Given the description of an element on the screen output the (x, y) to click on. 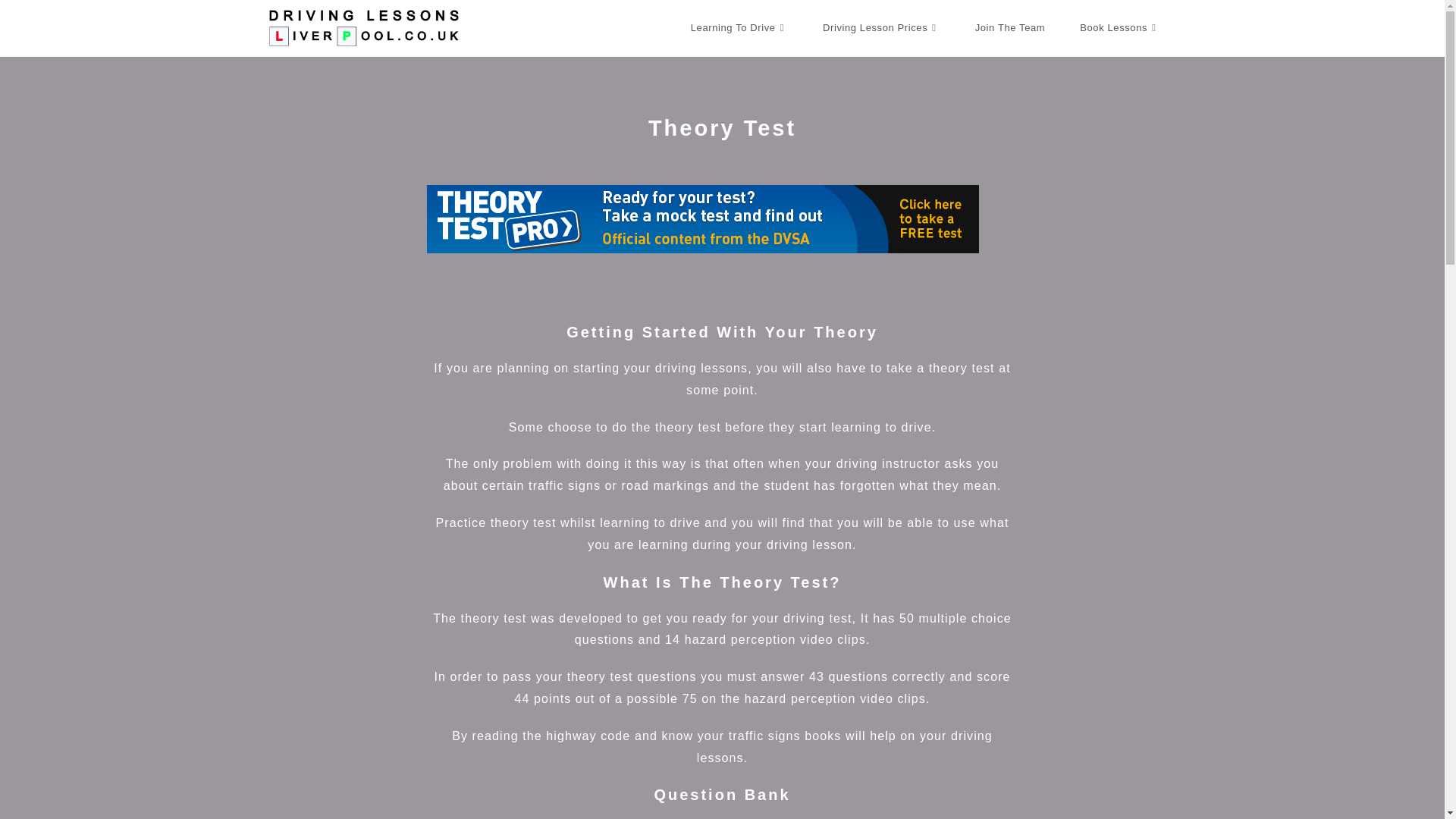
Theory Test Pro: practise your driving theory test online! (702, 218)
Driving Lesson Prices (881, 28)
driving lessons (701, 367)
Learning To Drive (738, 28)
Join The Team (1010, 28)
Book Lessons (1119, 28)
driving test, (819, 617)
